Given the description of an element on the screen output the (x, y) to click on. 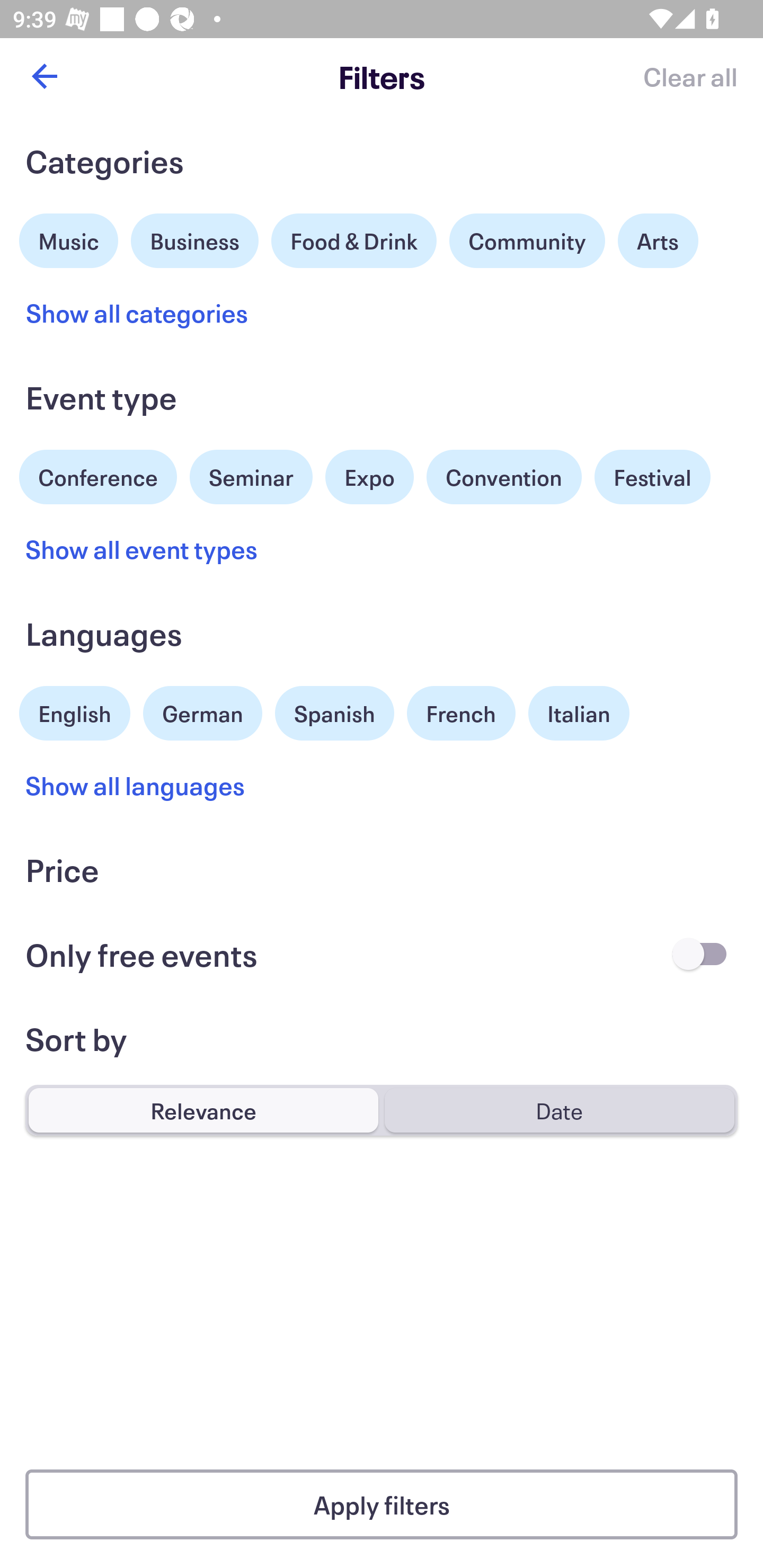
Back button (44, 75)
Clear all (690, 75)
Music (68, 238)
Business (194, 238)
Food & Drink (353, 240)
Community (527, 240)
Arts (658, 240)
Show all categories (136, 312)
Conference (98, 475)
Seminar (250, 477)
Expo (369, 477)
Convention (503, 477)
Festival (652, 477)
Show all event types (141, 548)
English (74, 710)
German (202, 710)
Spanish (334, 713)
French (460, 713)
Italian (578, 713)
Show all languages (135, 784)
Relevance (203, 1109)
Date (559, 1109)
Apply filters (381, 1504)
